Given the description of an element on the screen output the (x, y) to click on. 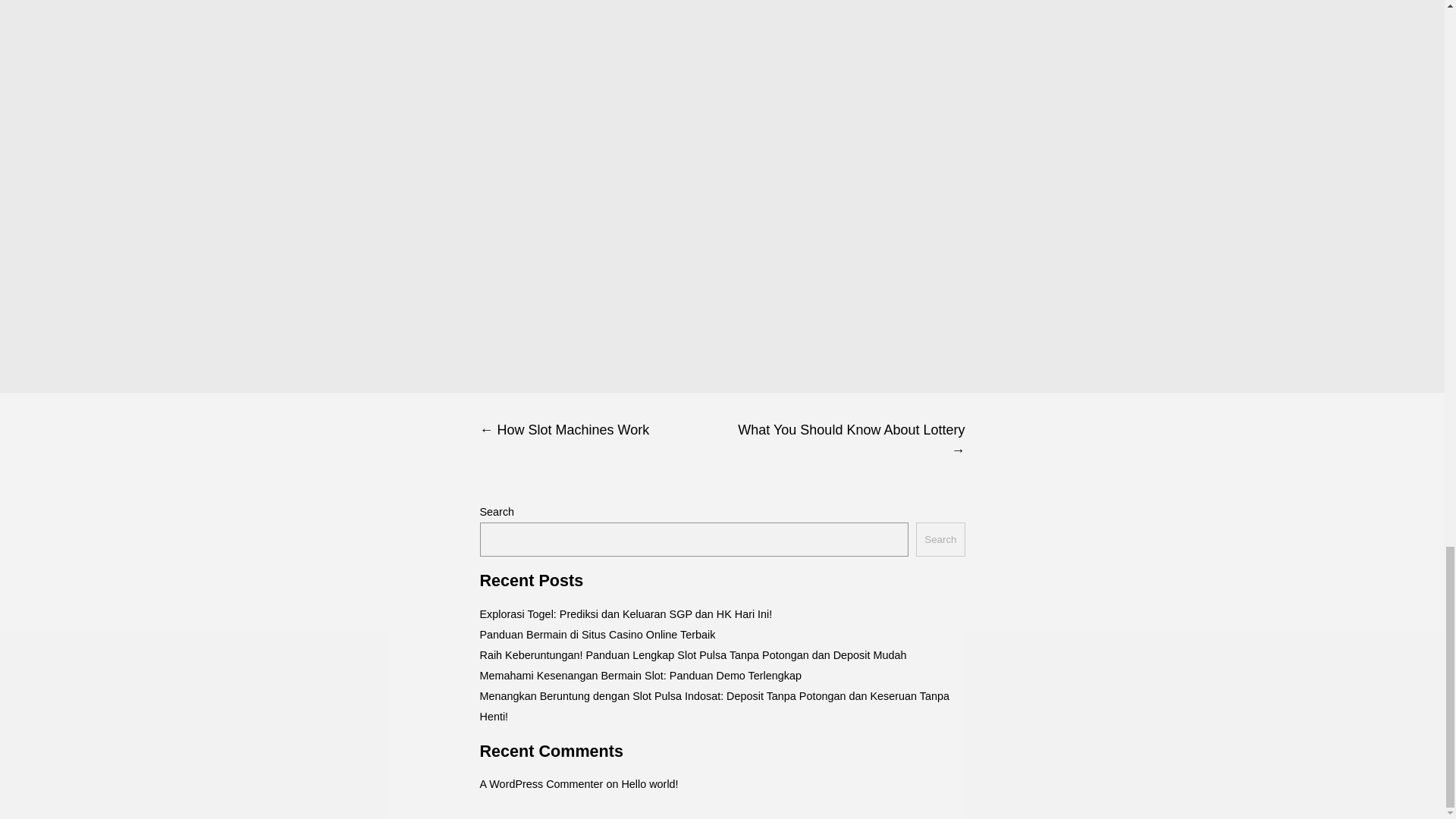
How Slot Machines Work (600, 430)
Search (939, 539)
Panduan Bermain di Situs Casino Online Terbaik (596, 634)
Explorasi Togel: Prediksi dan Keluaran SGP dan HK Hari Ini! (625, 613)
What You Should Know About Lottery (842, 440)
A WordPress Commenter (540, 784)
Memahami Kesenangan Bermain Slot: Panduan Demo Terlengkap (640, 675)
Hello world! (649, 784)
